Given the description of an element on the screen output the (x, y) to click on. 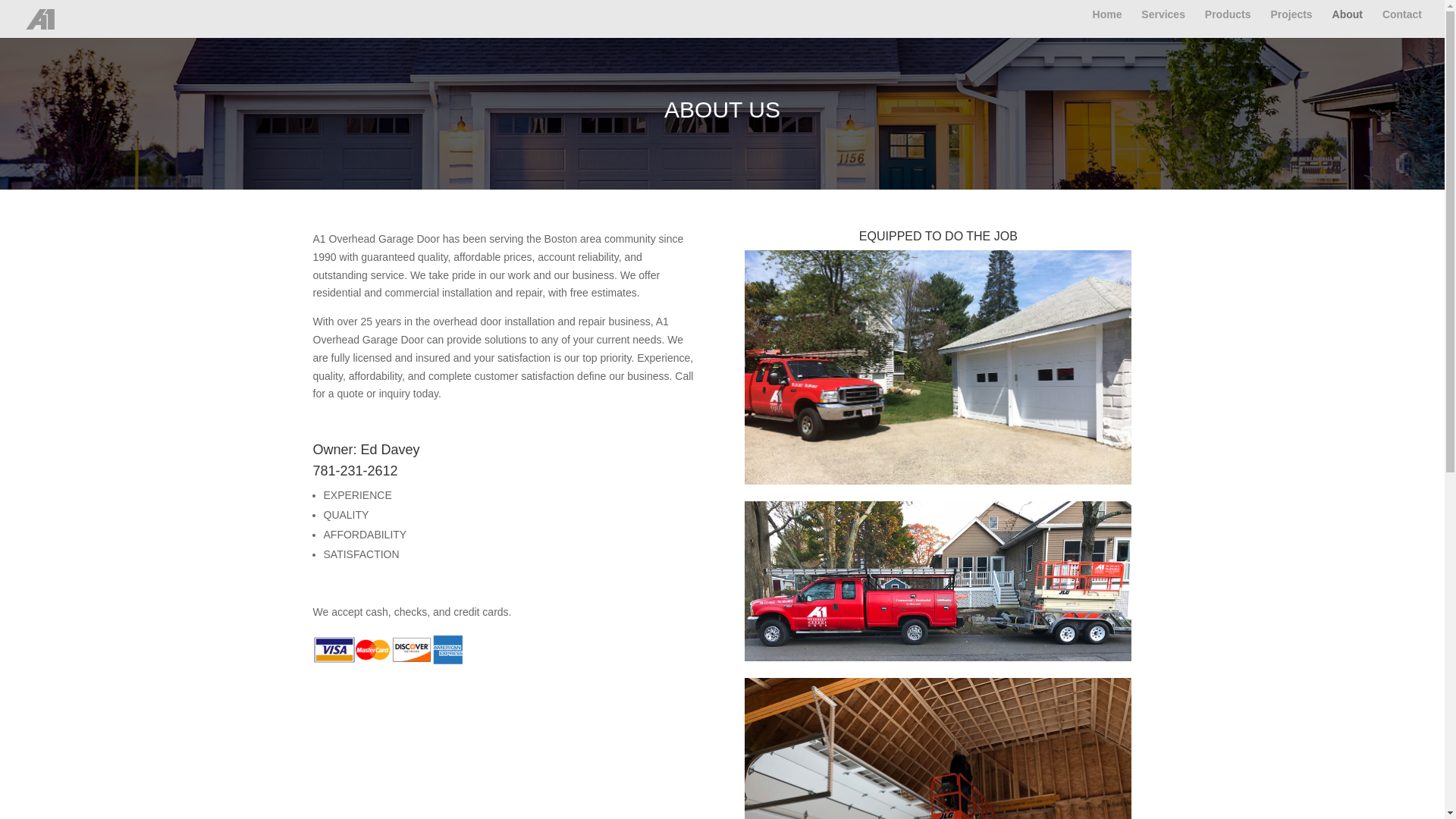
Services (1163, 20)
Contact (1401, 20)
Home (1107, 20)
About (1347, 20)
Projects (1290, 20)
Products (1227, 20)
